Given the description of an element on the screen output the (x, y) to click on. 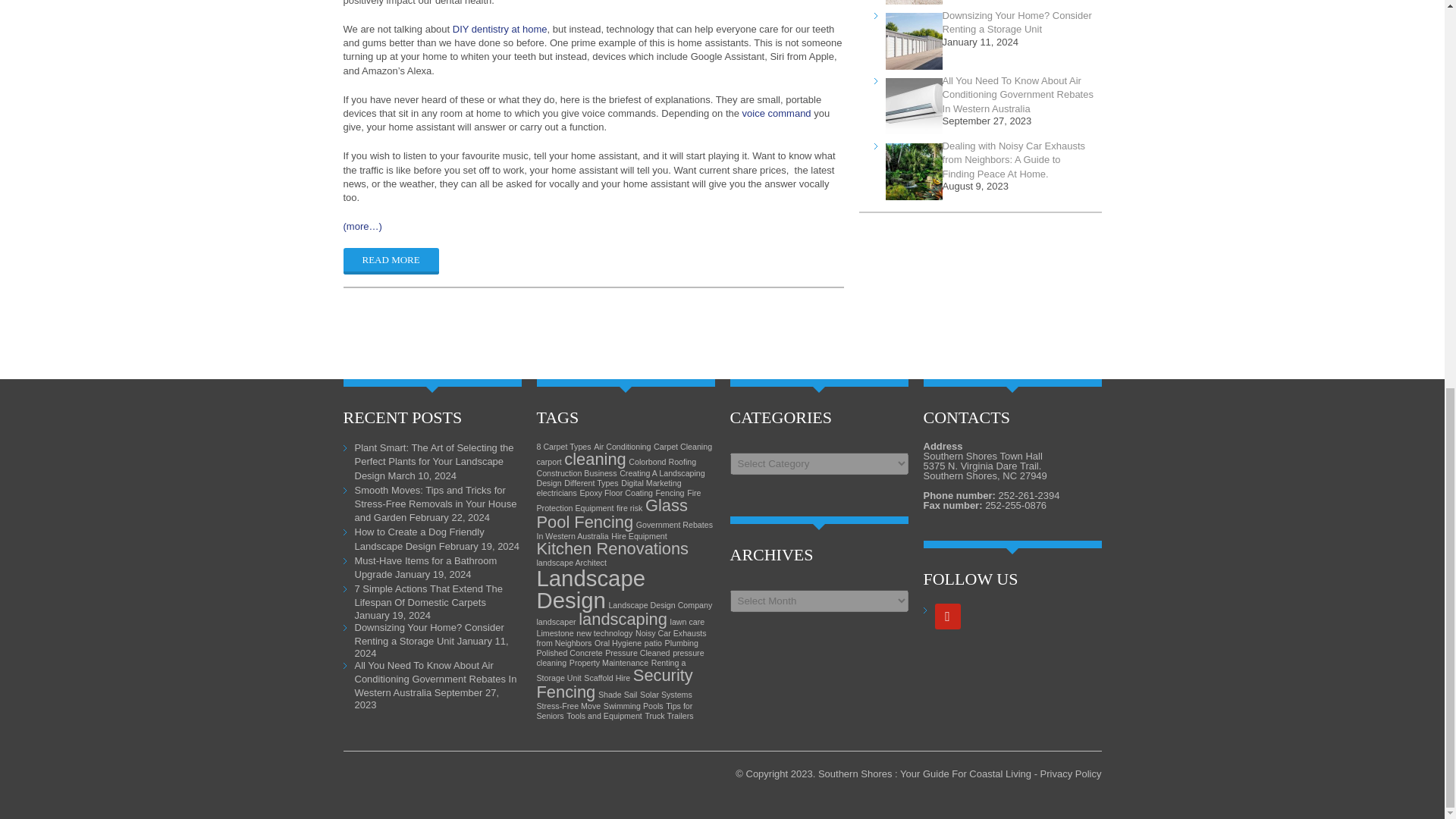
voice command (776, 112)
DIY dentistry at home (499, 29)
How to Create a Dog Friendly Landscape Design (419, 538)
READ MORE (390, 261)
Downsizing Your Home? Consider Renting a Storage Unit (1017, 22)
Must-Have Items for a Bathroom Upgrade (426, 567)
8 Carpet Types (564, 446)
Instagram (946, 615)
Air Conditioning (622, 446)
